Given the description of an element on the screen output the (x, y) to click on. 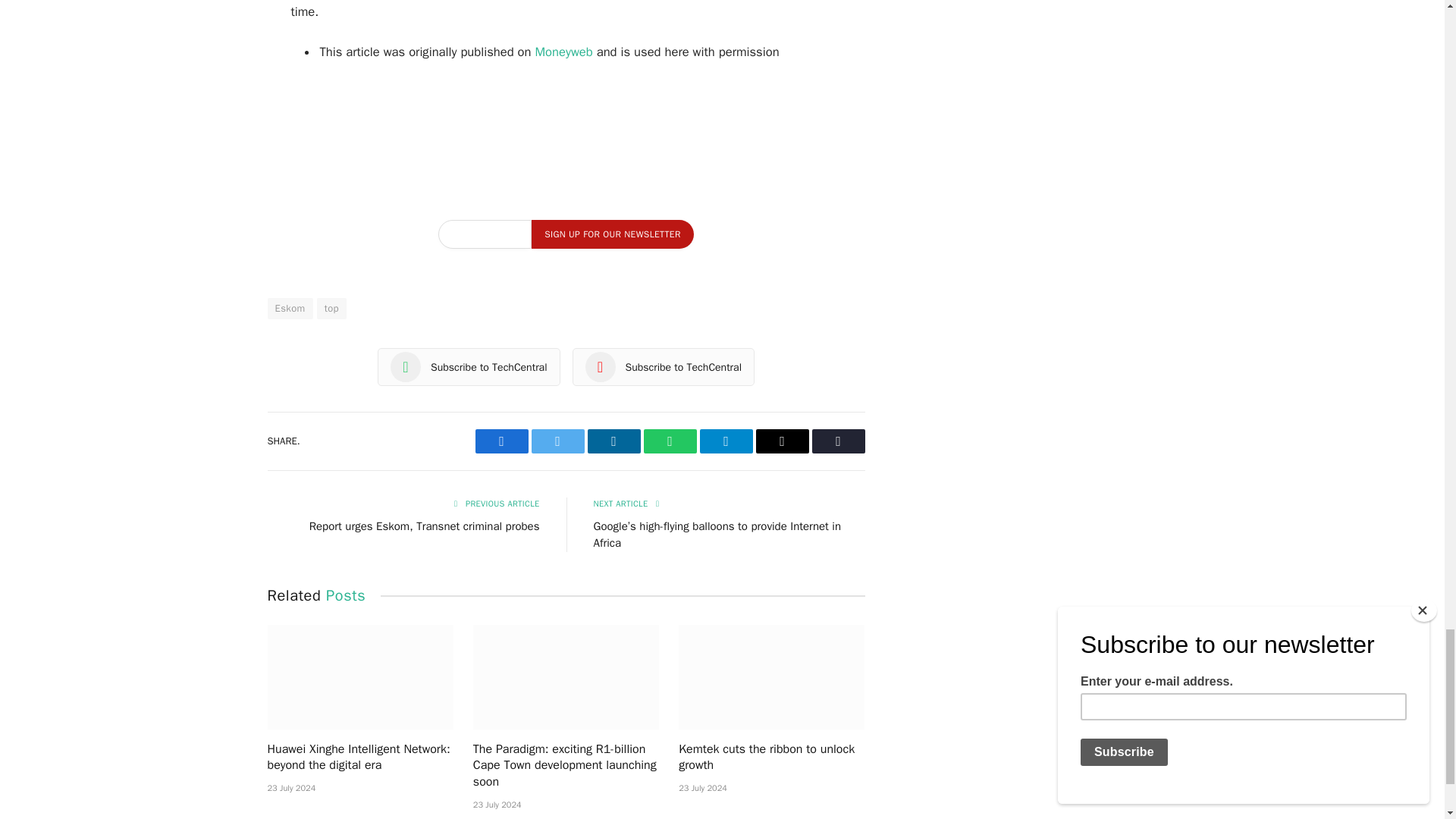
Sign up for our newsletter (612, 234)
